Given the description of an element on the screen output the (x, y) to click on. 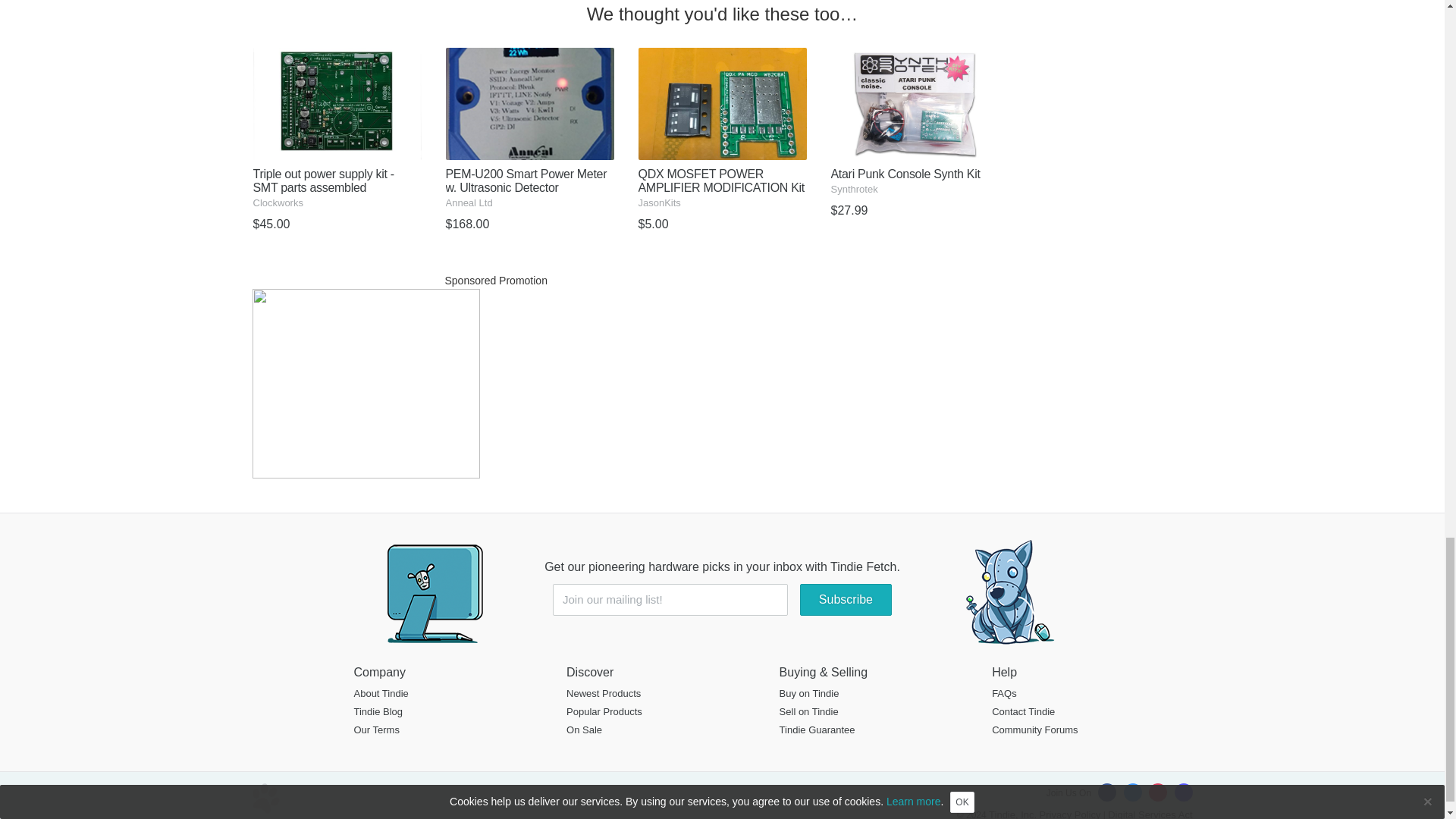
Follow us on Twitter (1132, 791)
Atari Punk Console Synth Kit (914, 142)
Follow us on Mastodon (1182, 791)
Subscribe (845, 599)
Follow us on Facebook (1106, 791)
Follow us on Instagram (1157, 791)
